Given the description of an element on the screen output the (x, y) to click on. 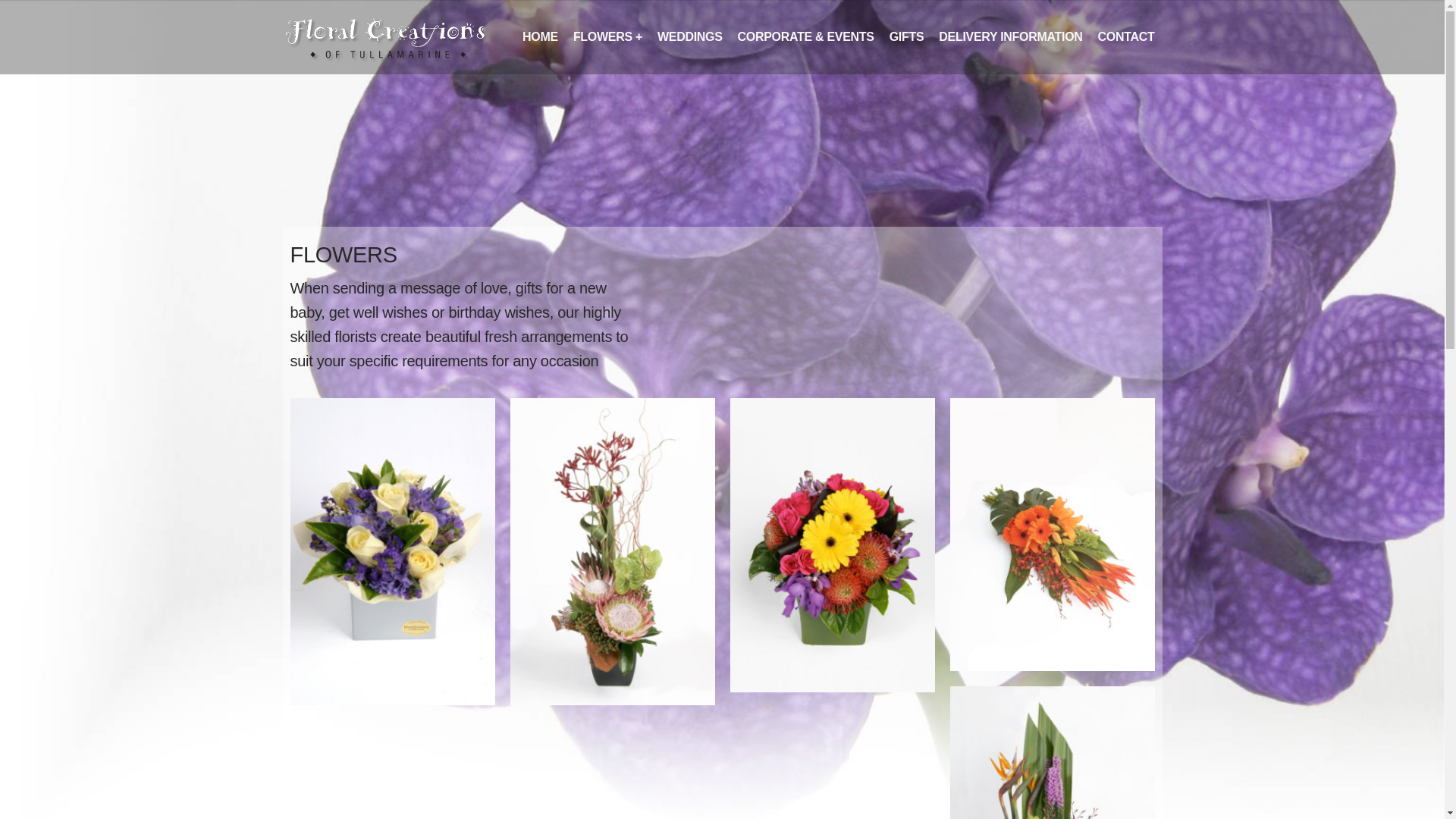
Flower 6 Element type: hover (831, 545)
Flower 8 Element type: hover (391, 551)
CONTACT Element type: text (1126, 36)
DELIVERY INFORMATION Element type: text (1010, 36)
Flower 5 Element type: hover (1051, 534)
Flower 7 Element type: hover (611, 551)
FLOWERS + Element type: text (607, 36)
GIFTS Element type: text (906, 36)
CORPORATE & EVENTS Element type: text (805, 36)
Floral Creations Tullamarine Element type: hover (392, 39)
WEDDINGS Element type: text (689, 36)
HOME Element type: text (539, 36)
